Given the description of an element on the screen output the (x, y) to click on. 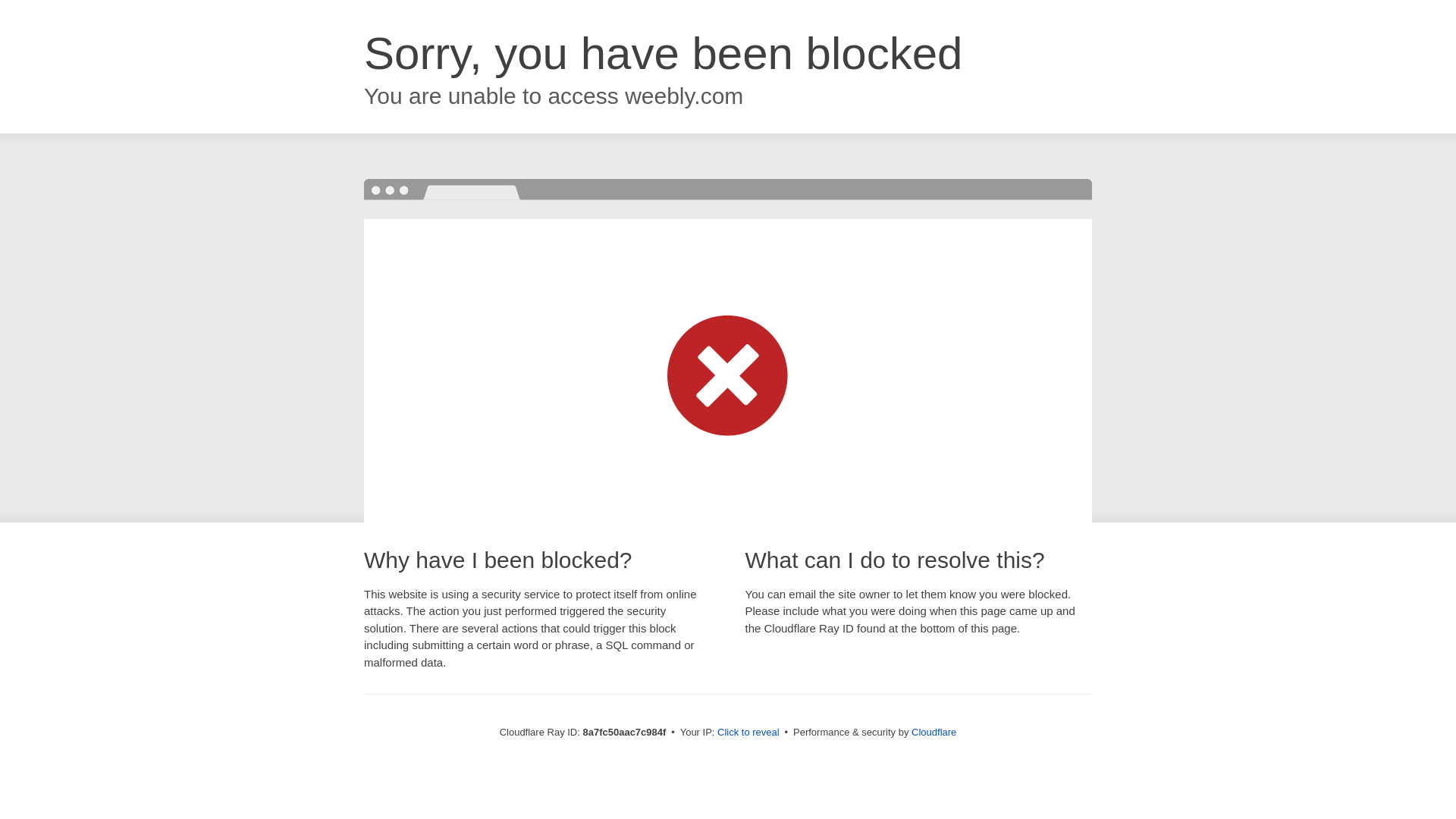
Cloudflare (933, 731)
Click to reveal (747, 732)
